Given the description of an element on the screen output the (x, y) to click on. 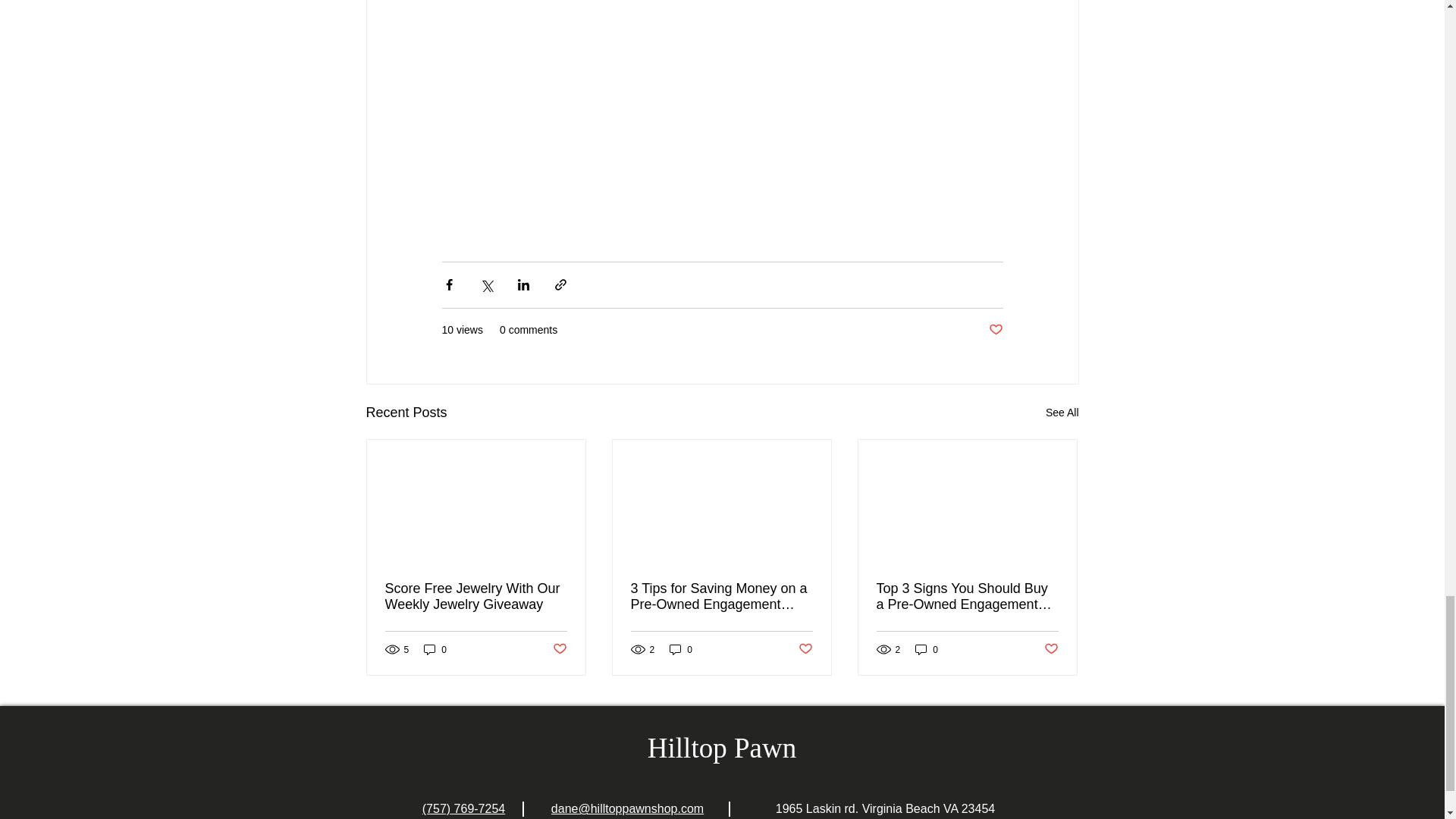
Score Free Jewelry With Our Weekly Jewelry Giveaway (476, 596)
Post not marked as liked (1050, 649)
0 (681, 649)
3 Tips for Saving Money on a Pre-Owned Engagement Ring (721, 596)
0 (435, 649)
See All (1061, 413)
Post not marked as liked (804, 649)
Post not marked as liked (995, 330)
0 (926, 649)
Post not marked as liked (558, 649)
Top 3 Signs You Should Buy a Pre-Owned Engagement Ring (967, 596)
